Given the description of an element on the screen output the (x, y) to click on. 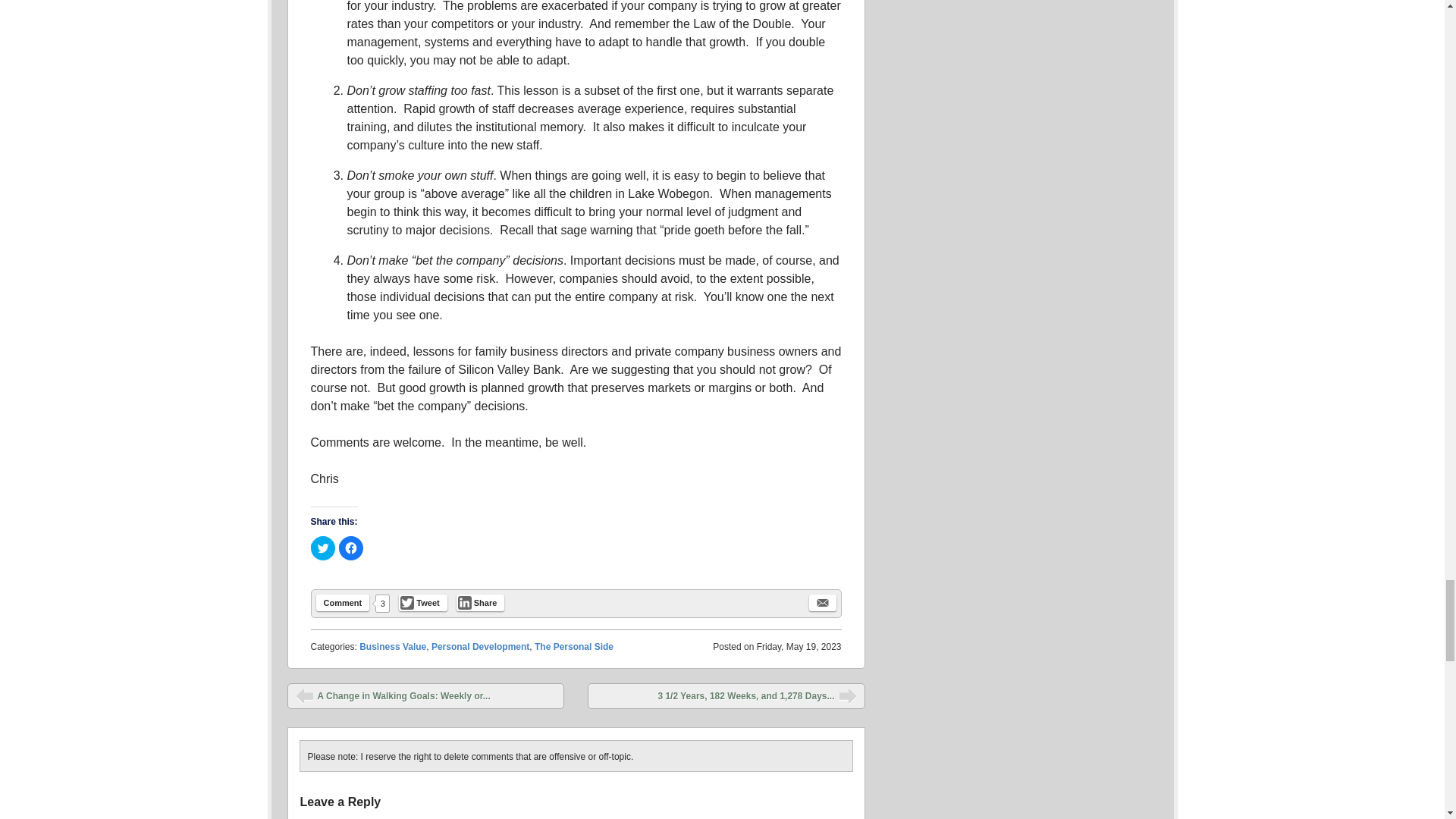
Tweet this Post (422, 602)
Comment (342, 602)
Comment on this Post (342, 602)
Tweet (422, 602)
email (821, 602)
Business Value (392, 646)
Share on LinkedIn (481, 602)
Share (481, 602)
Click to share on Facebook (349, 548)
Click to share on Twitter (322, 548)
